Given the description of an element on the screen output the (x, y) to click on. 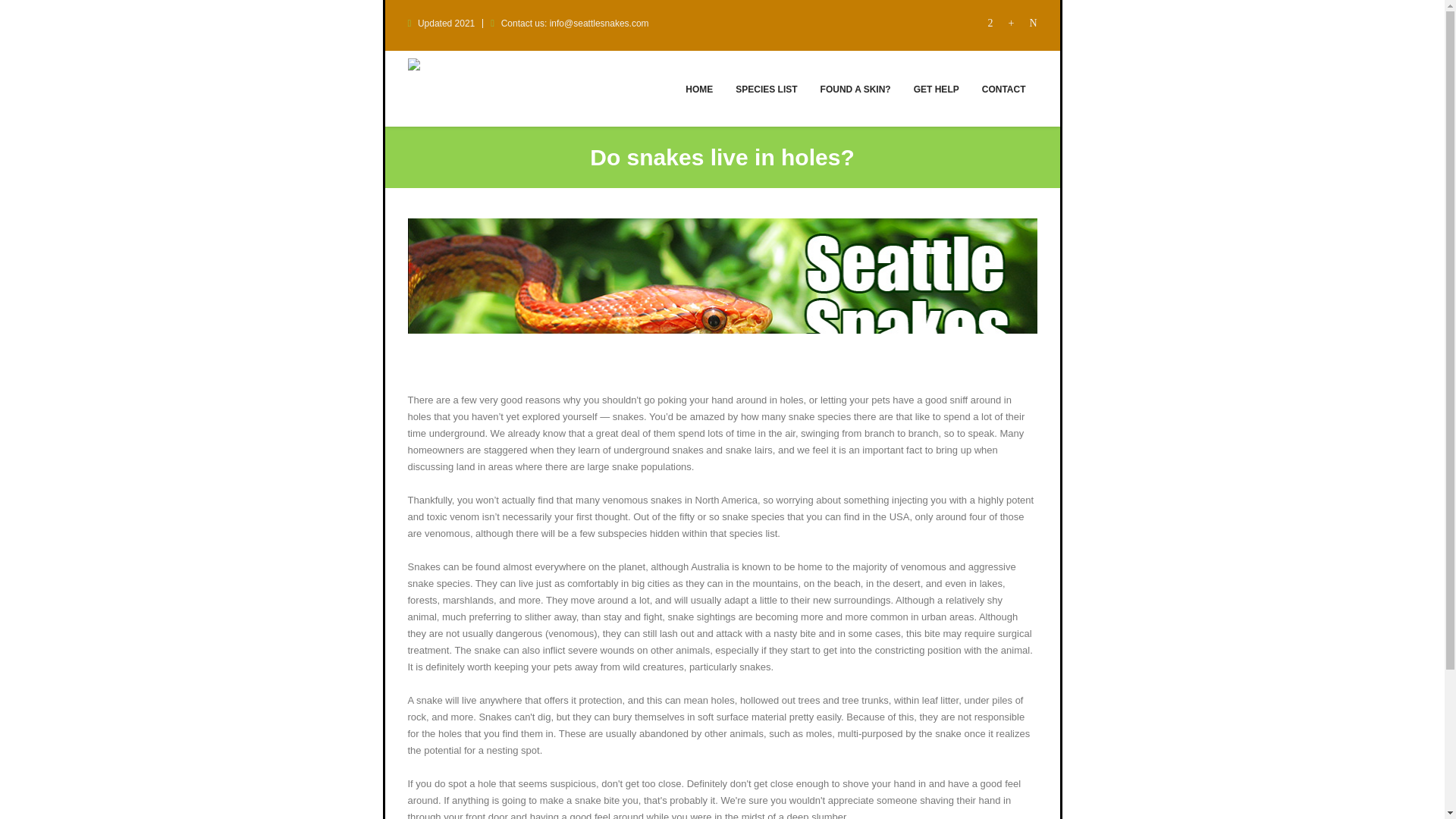
SPECIES LIST (765, 88)
FOUND A SKIN? (855, 88)
GET HELP (936, 88)
